Given the description of an element on the screen output the (x, y) to click on. 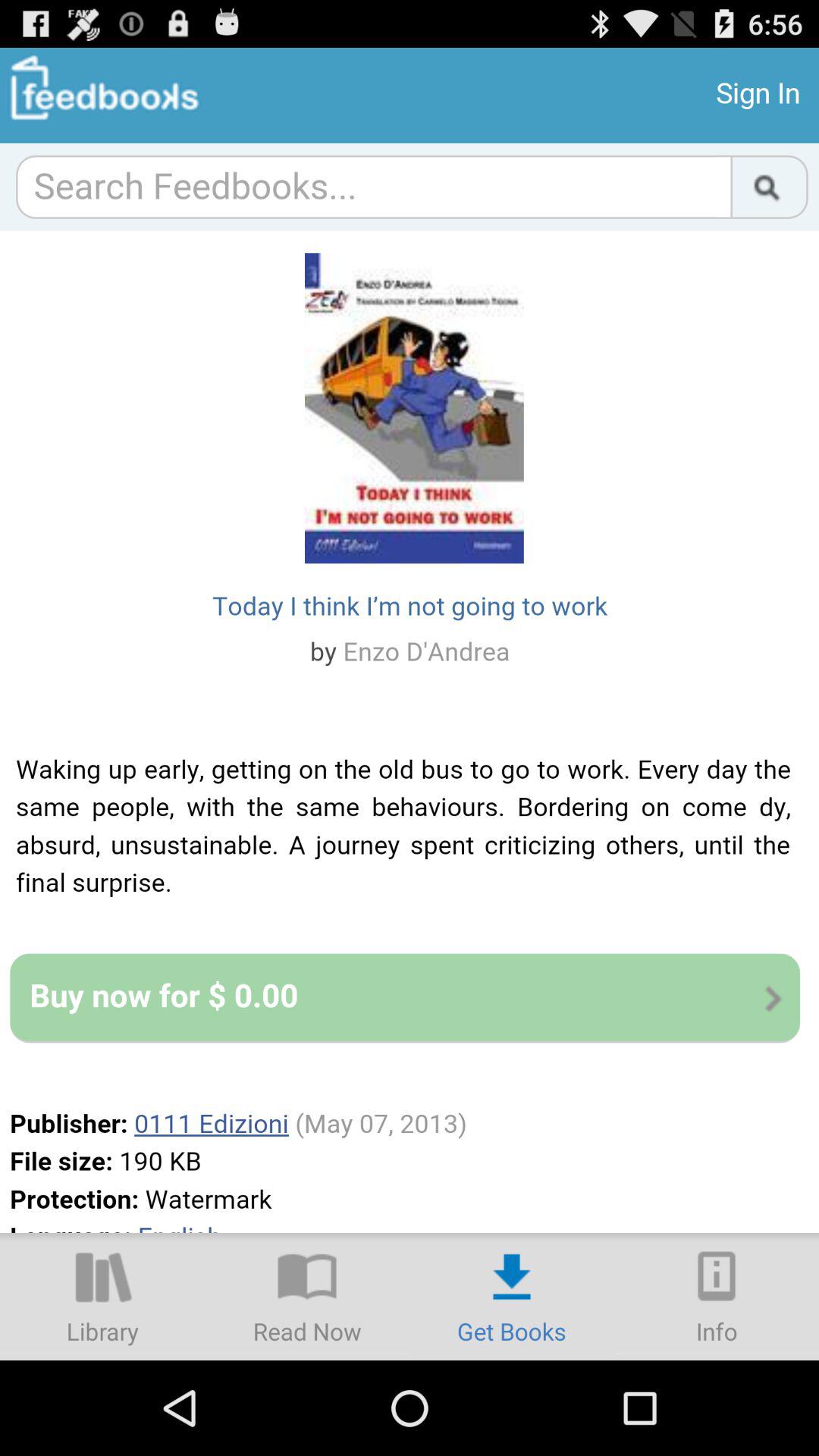
go to library (102, 1296)
